Given the description of an element on the screen output the (x, y) to click on. 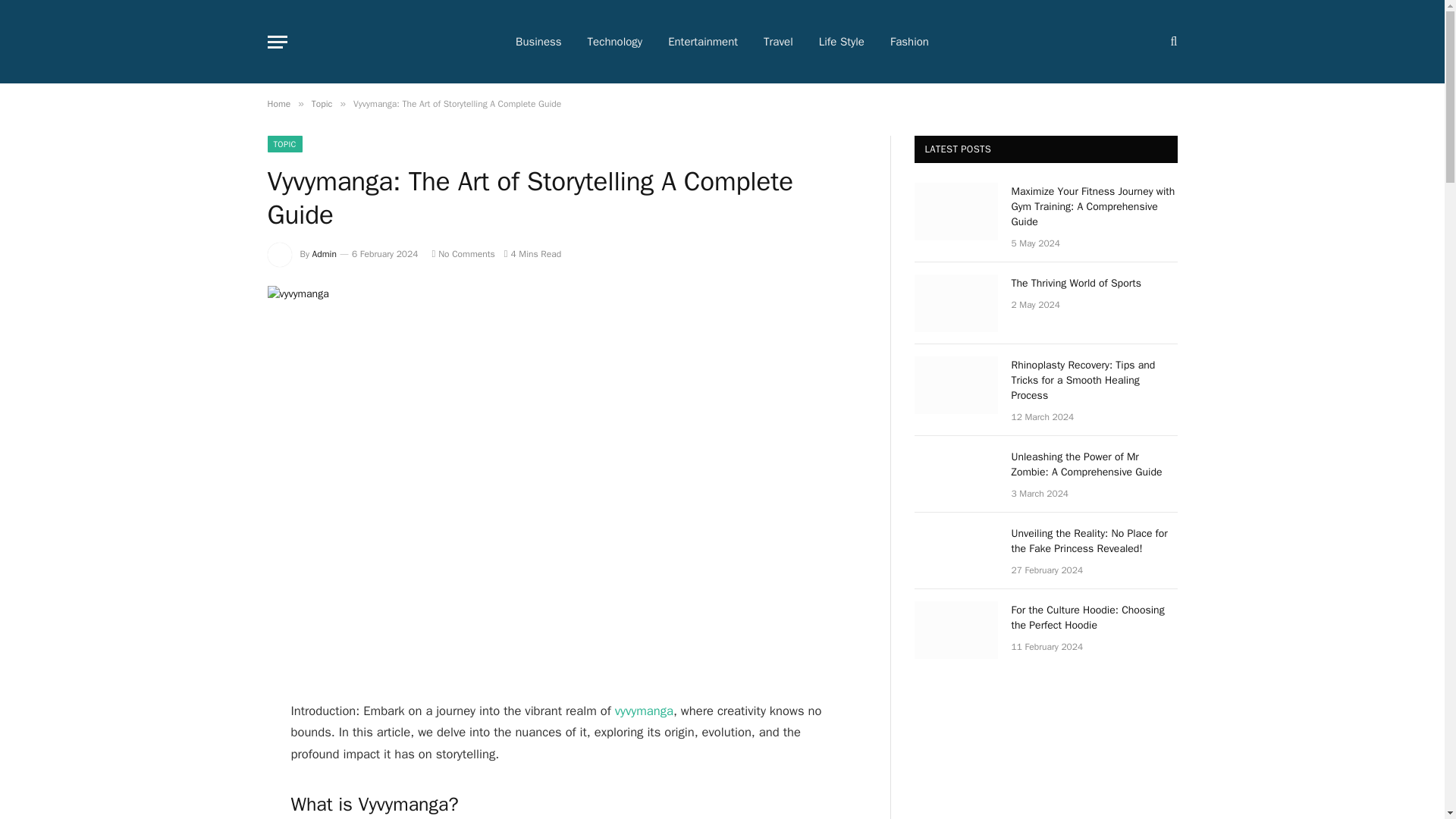
The Thriving World of Sports (955, 303)
For the Culture Hoodie: Choosing the Perfect Hoodie (955, 630)
Technology (615, 41)
No Comments (462, 254)
Posts by Admin (324, 254)
Admin (324, 254)
MyLiberla (313, 41)
TOPIC (283, 143)
